Given the description of an element on the screen output the (x, y) to click on. 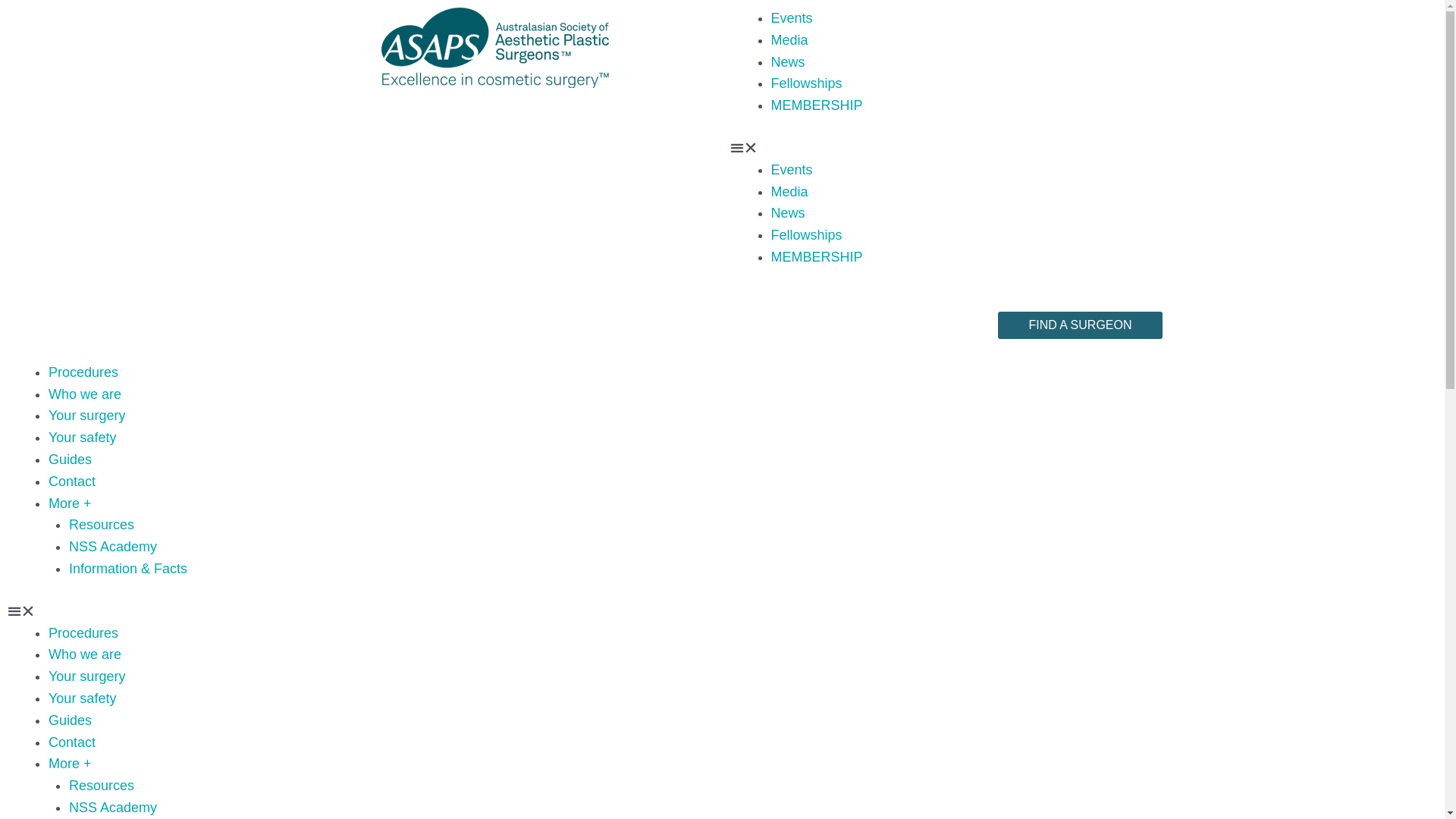
Media Element type: text (788, 191)
NSS Academy Element type: text (112, 807)
More + Element type: text (69, 503)
Events Element type: text (791, 17)
ASAPS_logo Element type: hover (494, 47)
Fellowships Element type: text (805, 234)
Fellowships Element type: text (805, 83)
Your safety Element type: text (82, 437)
Your safety Element type: text (82, 698)
Your surgery Element type: text (86, 415)
More + Element type: text (69, 763)
Guides Element type: text (69, 459)
MEMBERSHIP Element type: text (816, 104)
Contact Element type: text (71, 741)
Information & Facts Element type: text (128, 568)
News Element type: text (787, 212)
Guides Element type: text (69, 720)
Media Element type: text (788, 39)
NSS Academy Element type: text (112, 546)
News Element type: text (787, 61)
Your surgery Element type: text (86, 676)
Resources Element type: text (101, 785)
Contact Element type: text (71, 481)
Procedures Element type: text (83, 632)
Procedures Element type: text (83, 371)
Events Element type: text (791, 169)
Who we are Element type: text (84, 654)
Resources Element type: text (101, 524)
MEMBERSHIP Element type: text (816, 256)
FIND A SURGEON Element type: text (1079, 324)
Who we are Element type: text (84, 393)
